Given the description of an element on the screen output the (x, y) to click on. 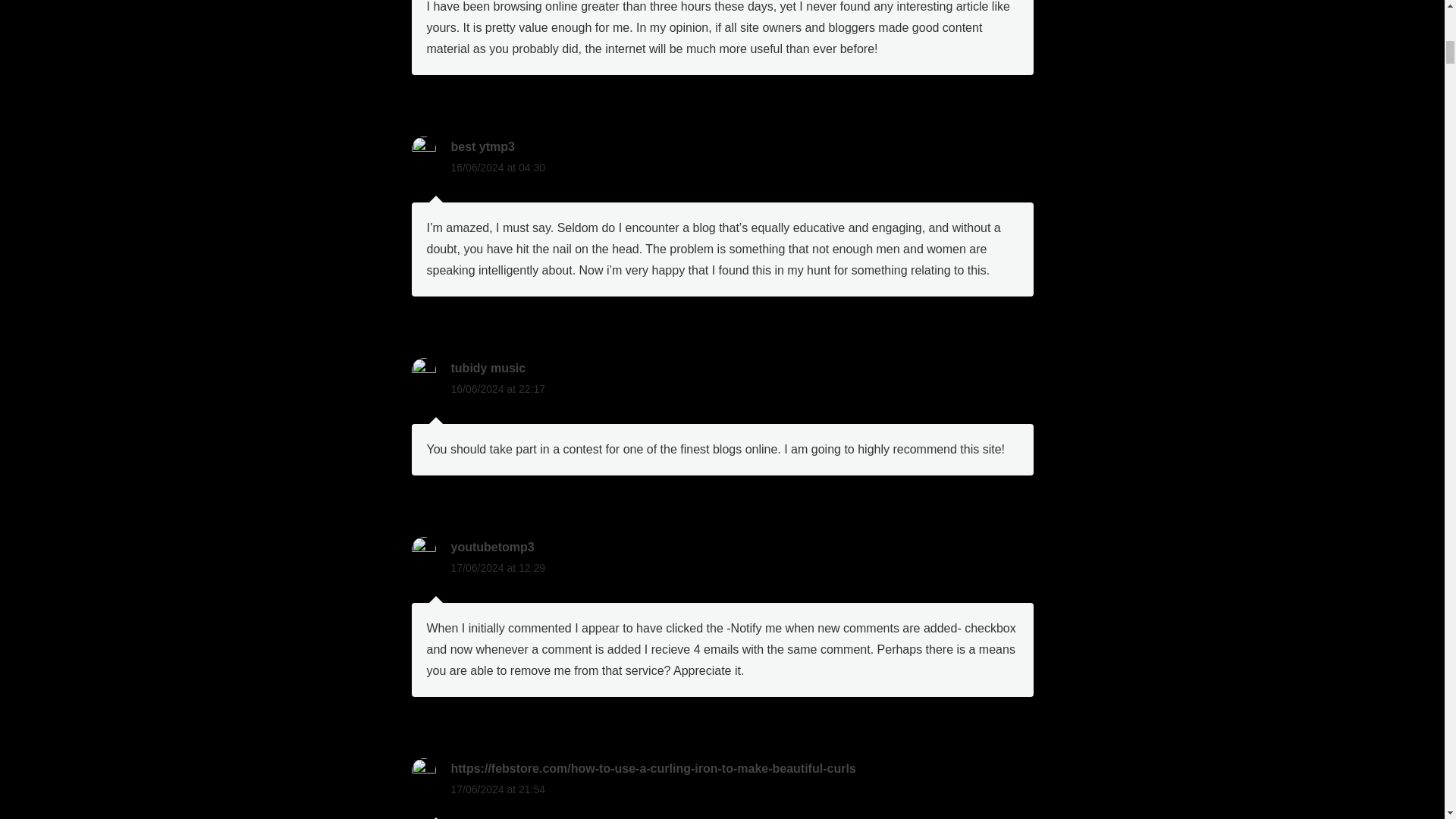
youtubetomp3 (491, 546)
tubidy music (487, 367)
best ytmp3 (481, 146)
